Given the description of an element on the screen output the (x, y) to click on. 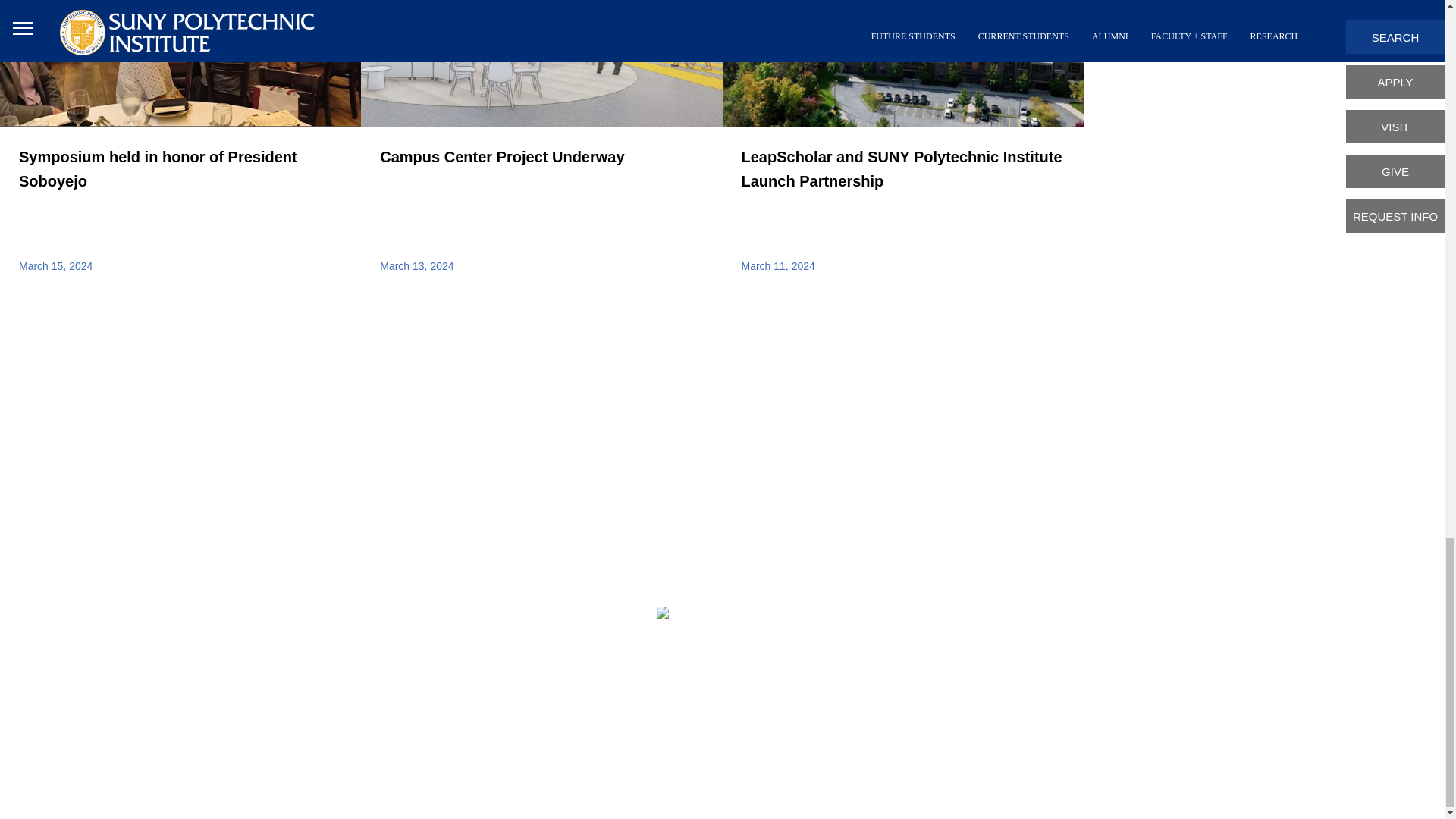
ADMISSIONS (737, 463)
STUDENT LIFE (180, 146)
Directories (737, 500)
Email (906, 535)
Faculty and Staff Directory (906, 565)
ABOUT (906, 535)
RESEARCH (737, 390)
Brightspace D2L (737, 536)
Faculty, Staff, Student Announcements (906, 446)
Cancelled Classes (906, 387)
Partners (906, 476)
Career Opportunities (906, 594)
